Given the description of an element on the screen output the (x, y) to click on. 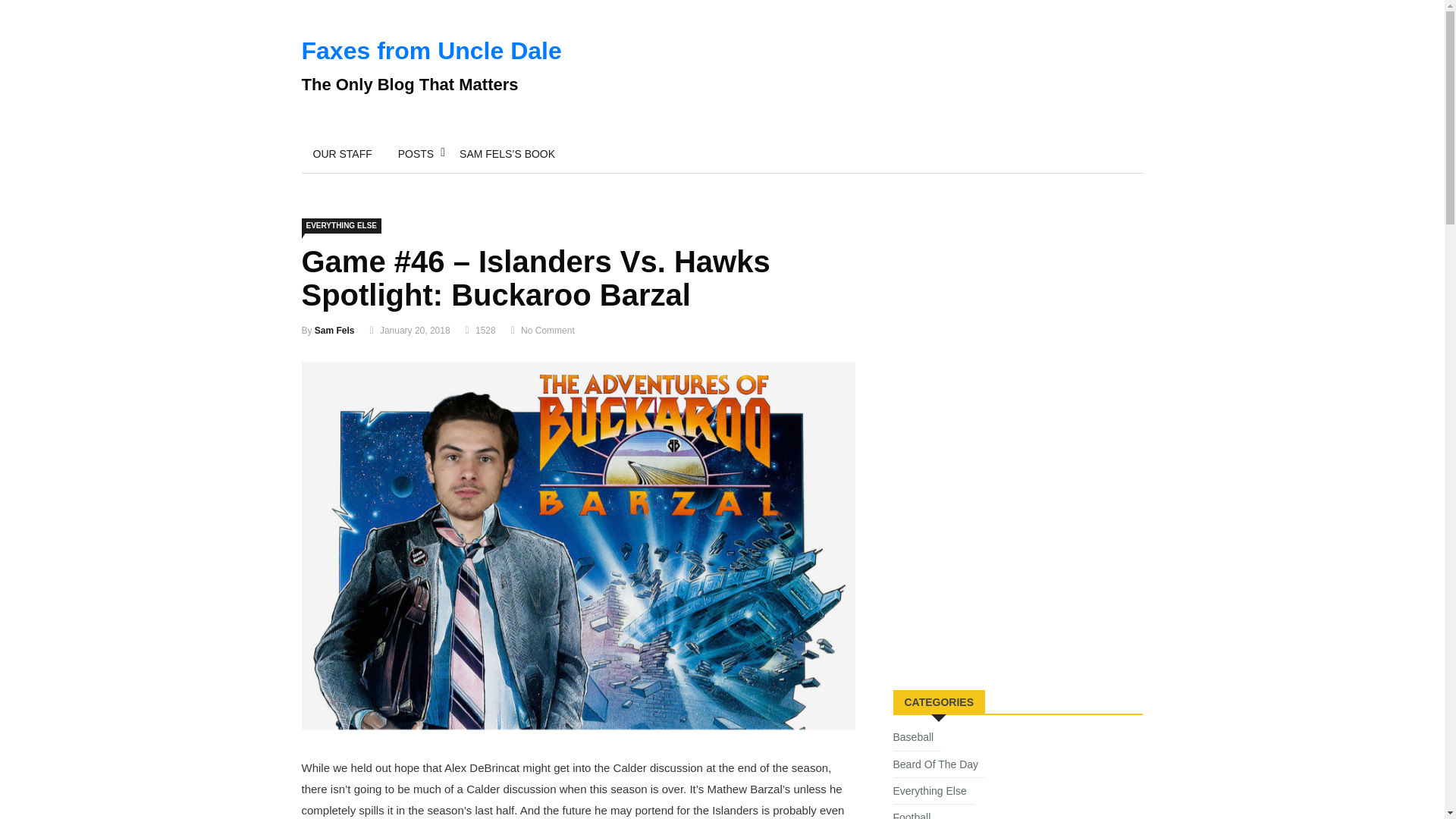
OUR STAFF (342, 153)
Football (916, 814)
Faxes from Uncle Dale (431, 50)
Baseball (917, 740)
Advertisement (1007, 560)
Beard Of The Day (940, 767)
Sam Fels (334, 330)
No Comment (548, 330)
POSTS (416, 153)
EVERYTHING ELSE (341, 225)
